Given the description of an element on the screen output the (x, y) to click on. 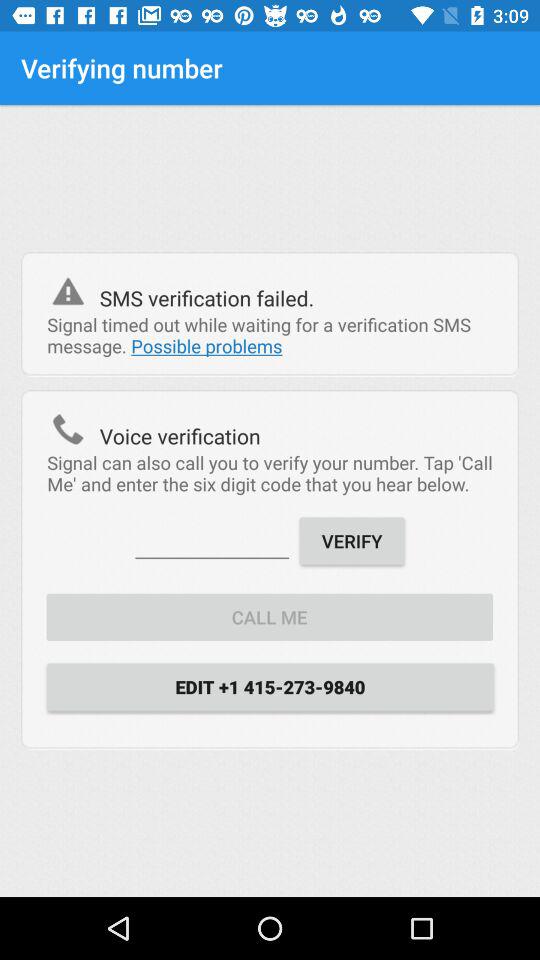
select edit 1 415 (270, 686)
